Given the description of an element on the screen output the (x, y) to click on. 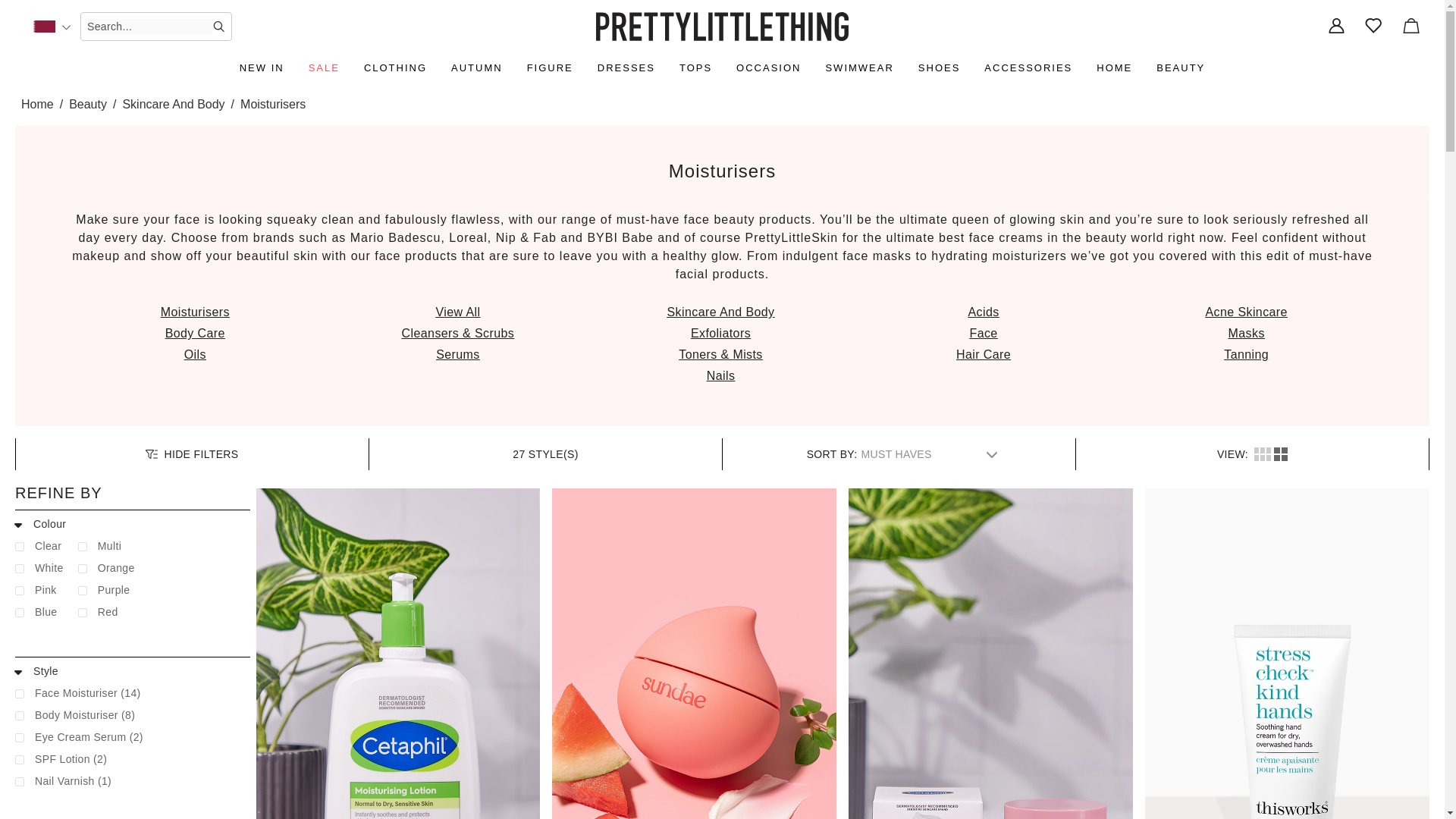
ACCESSORIES (1028, 68)
My Wishlist (1373, 27)
FIGURE (550, 68)
SALE (324, 68)
TOPS (694, 68)
OCCASION (768, 68)
SHOES (939, 68)
SWIMWEAR (858, 68)
BEAUTY (1180, 68)
Cart (1410, 27)
